Given the description of an element on the screen output the (x, y) to click on. 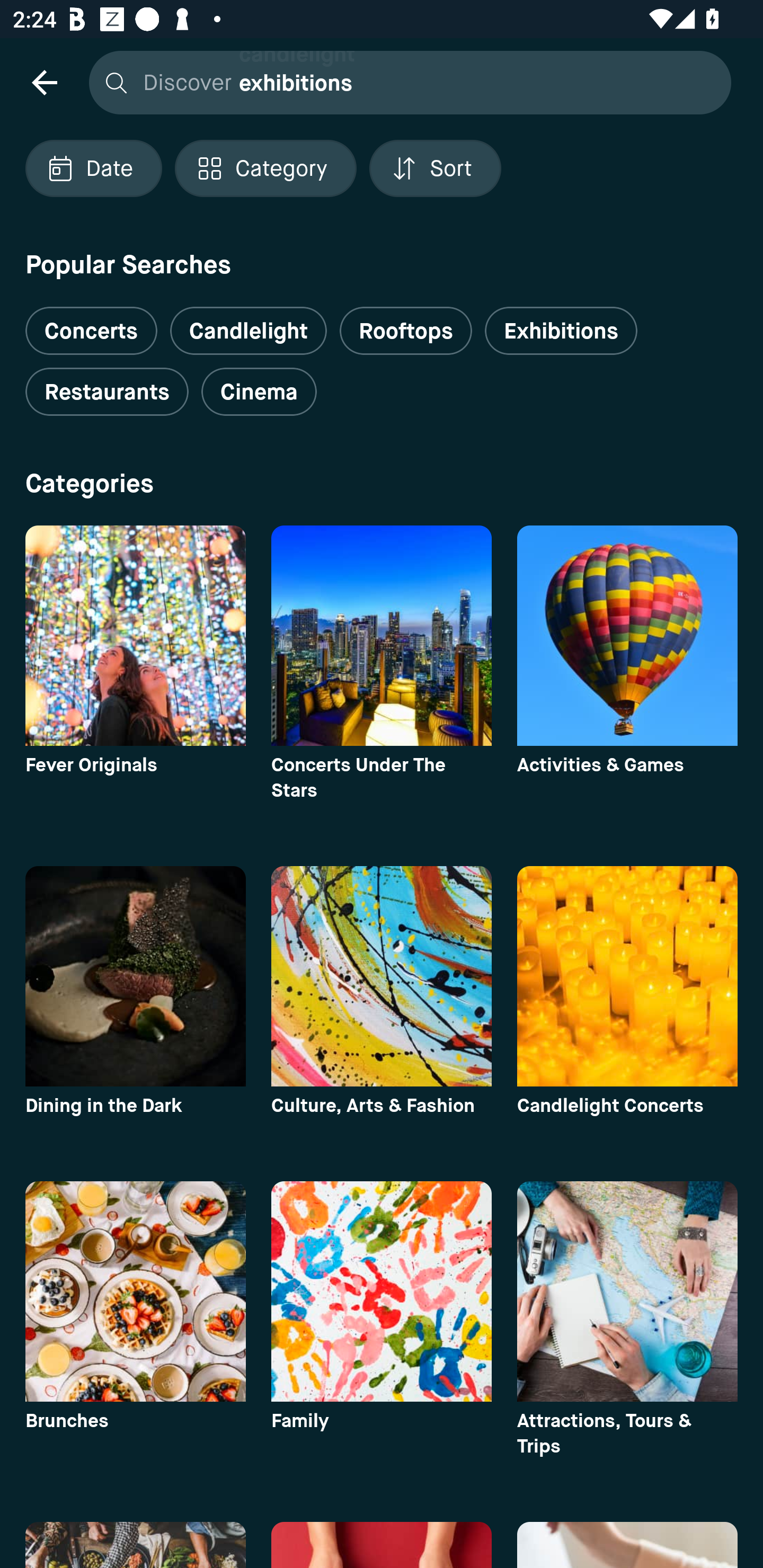
navigation icon (44, 81)
Discover candlelight exhibitions (405, 81)
Localized description Date (93, 168)
Localized description Category (265, 168)
Localized description Sort (435, 168)
Concerts (91, 323)
Candlelight (248, 330)
Rooftops (405, 330)
Exhibitions (560, 330)
Restaurants (106, 391)
Cinema (258, 391)
category image (135, 635)
category image (381, 635)
category image (627, 635)
category image (135, 975)
category image (381, 975)
category image (627, 975)
category image (135, 1290)
category image (381, 1290)
category image (627, 1290)
